Given the description of an element on the screen output the (x, y) to click on. 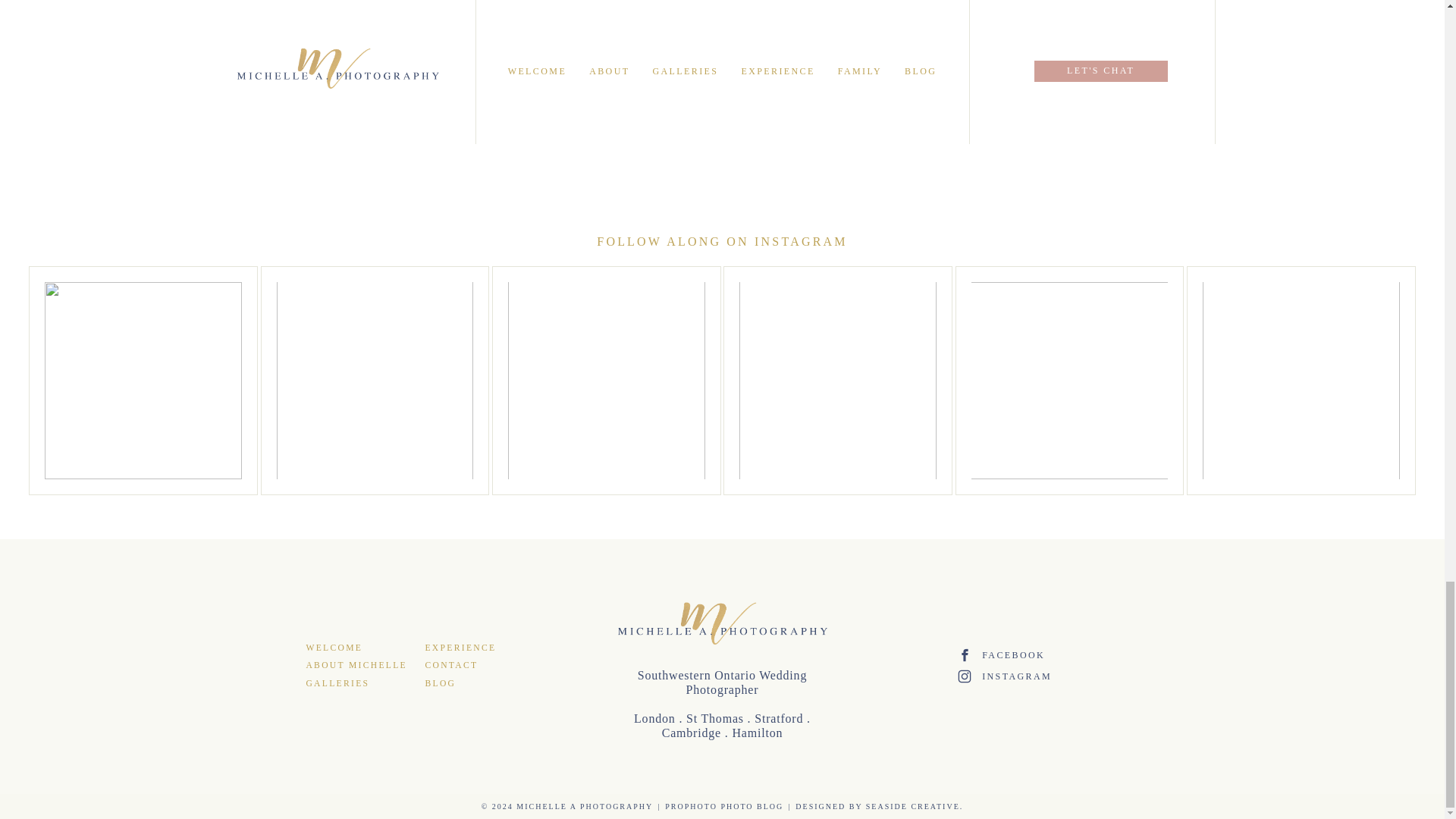
ProPhoto Custom Blog (724, 806)
weddings (499, 30)
